Given the description of an element on the screen output the (x, y) to click on. 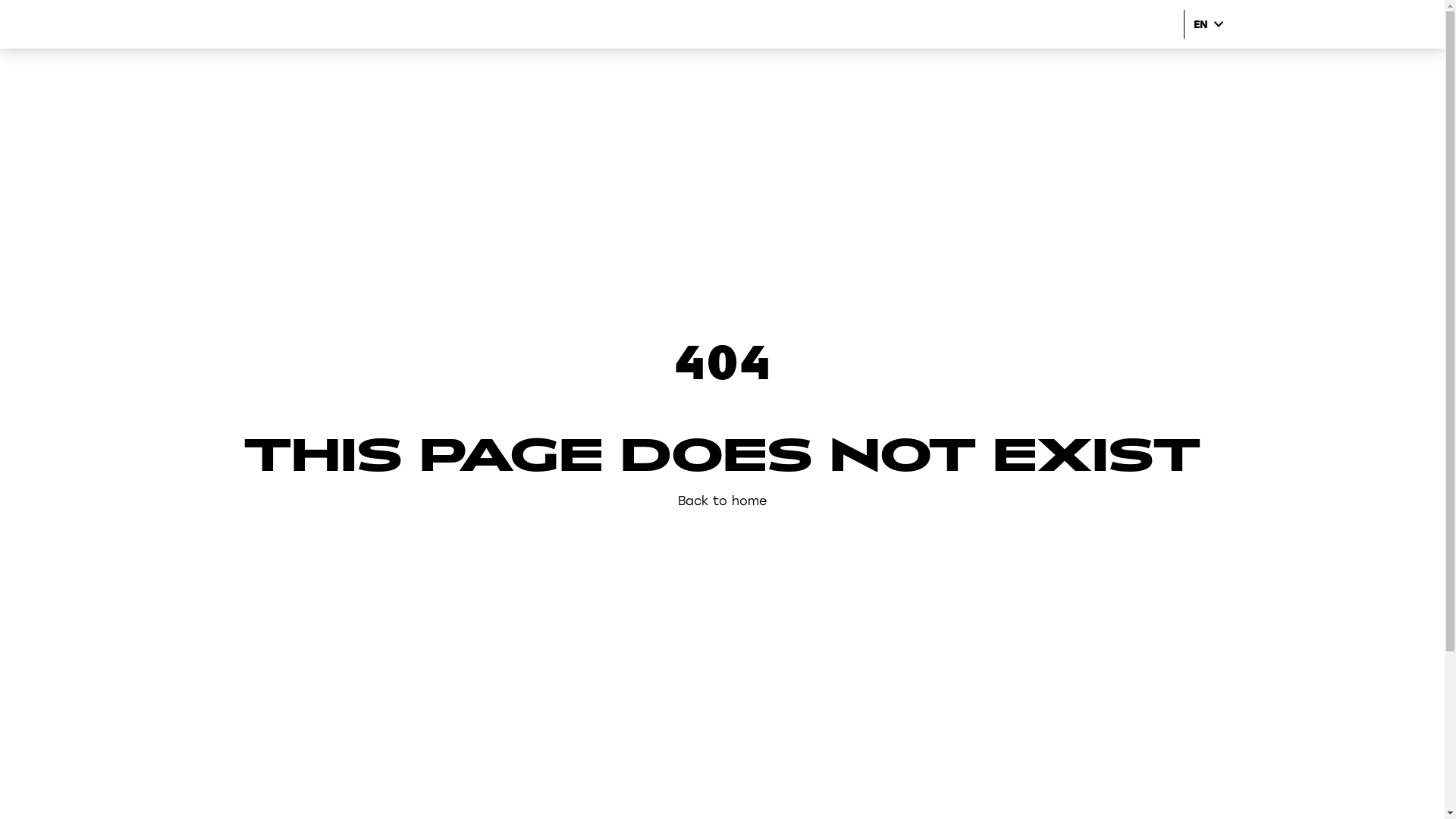
Back to home Element type: text (721, 501)
EN Element type: text (1203, 23)
